Given the description of an element on the screen output the (x, y) to click on. 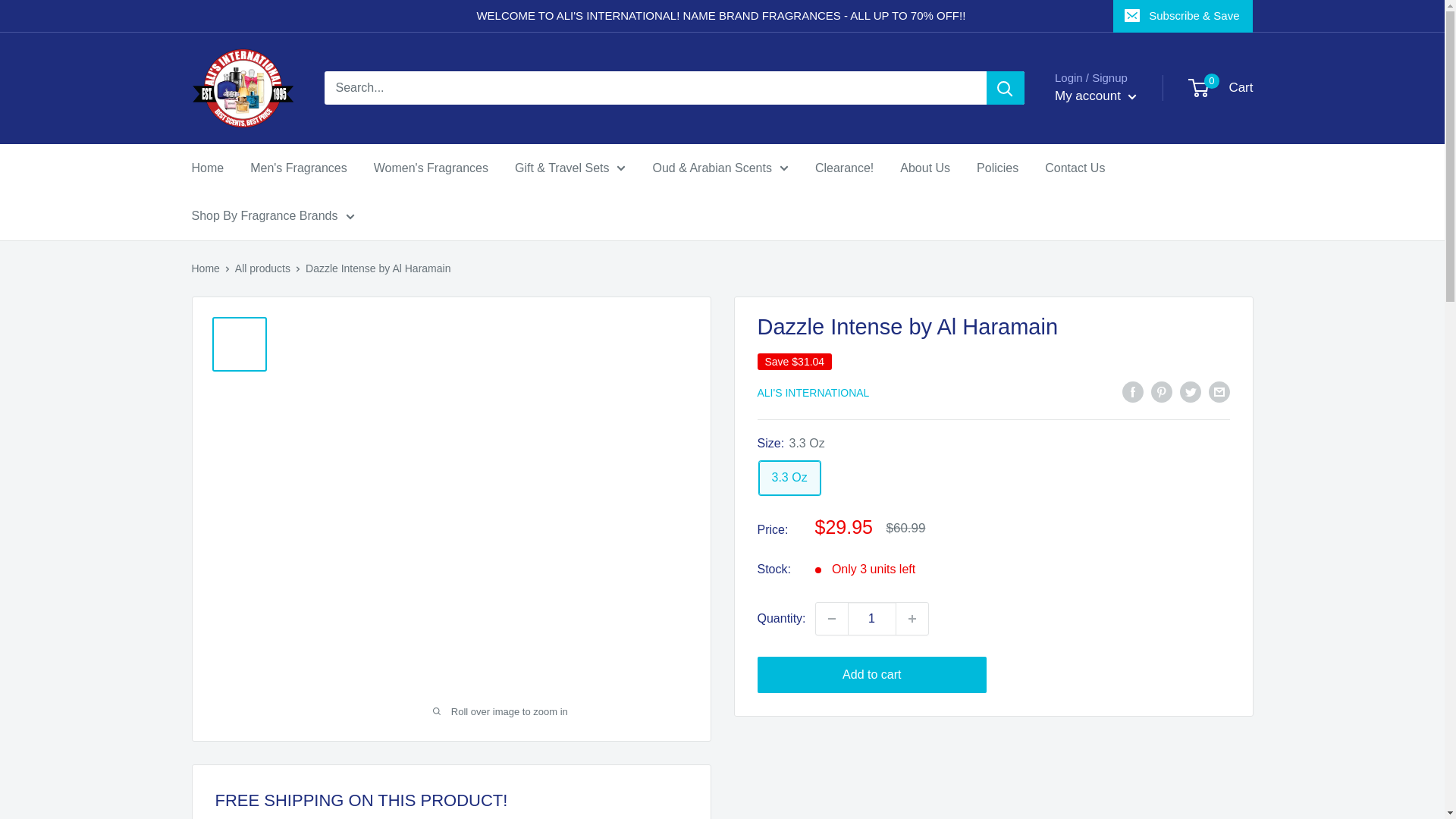
3.3 Oz (788, 478)
1 (871, 618)
Increase quantity by 1 (912, 618)
Decrease quantity by 1 (831, 618)
